Given the description of an element on the screen output the (x, y) to click on. 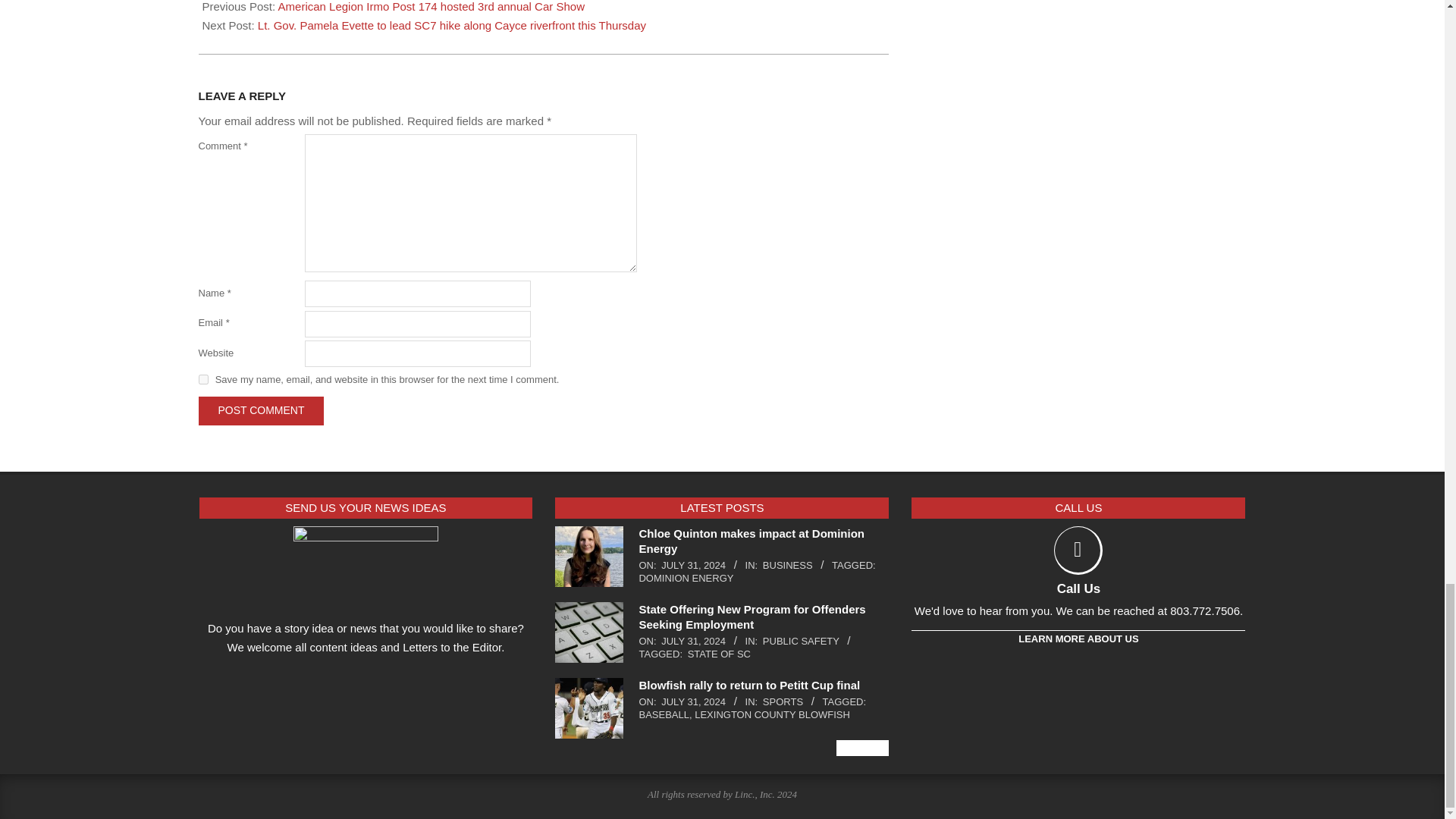
Wednesday, July 31, 2024, 6:06 pm (693, 641)
yes (203, 379)
Post Comment (261, 410)
Wednesday, July 31, 2024, 6:22 pm (693, 564)
Wednesday, July 31, 2024, 4:38 pm (693, 701)
American Legion Irmo Post 174 hosted 3rd annual Car Show (431, 6)
Post Comment (261, 410)
